Given the description of an element on the screen output the (x, y) to click on. 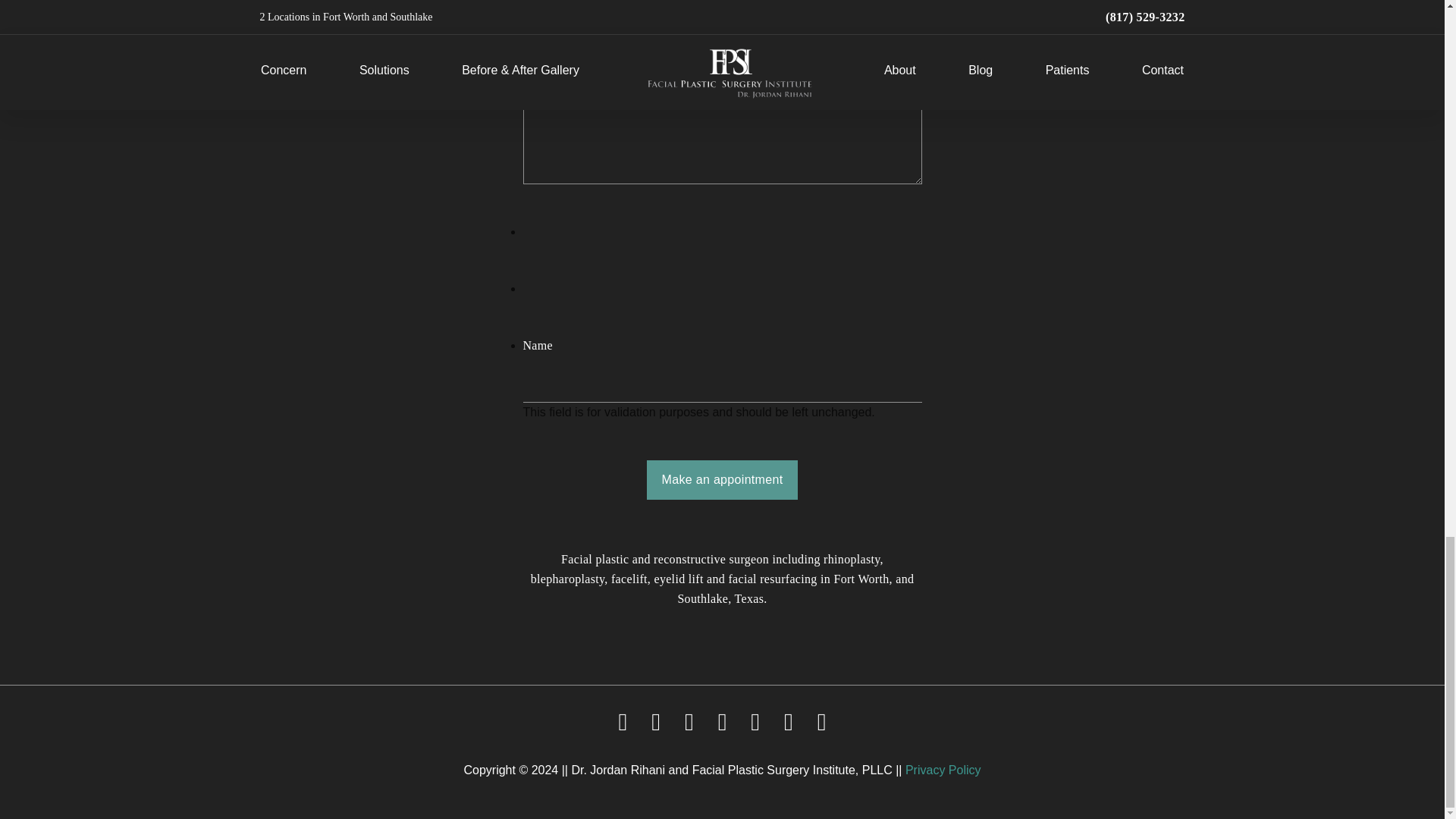
Make an appointment (721, 479)
